Given the description of an element on the screen output the (x, y) to click on. 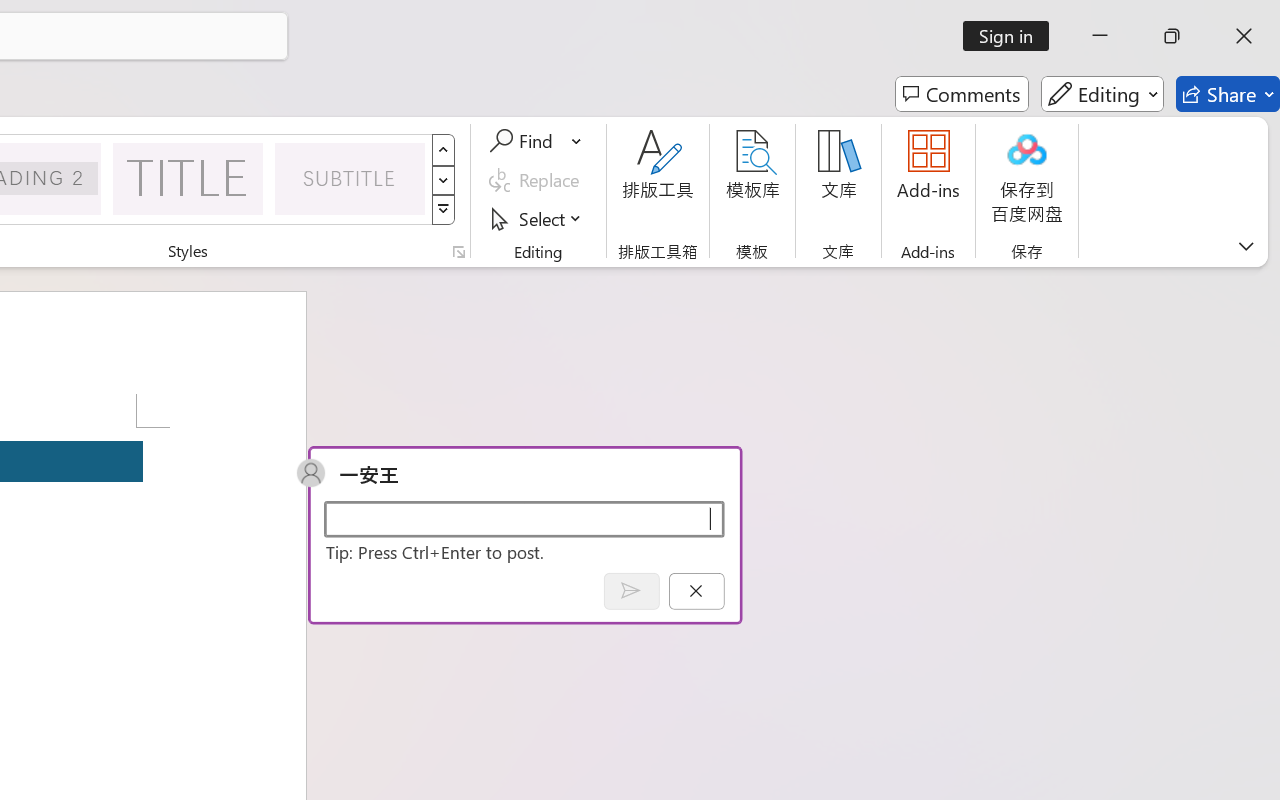
Sign in (1012, 35)
Cancel (696, 590)
Start a conversation (524, 518)
